Given the description of an element on the screen output the (x, y) to click on. 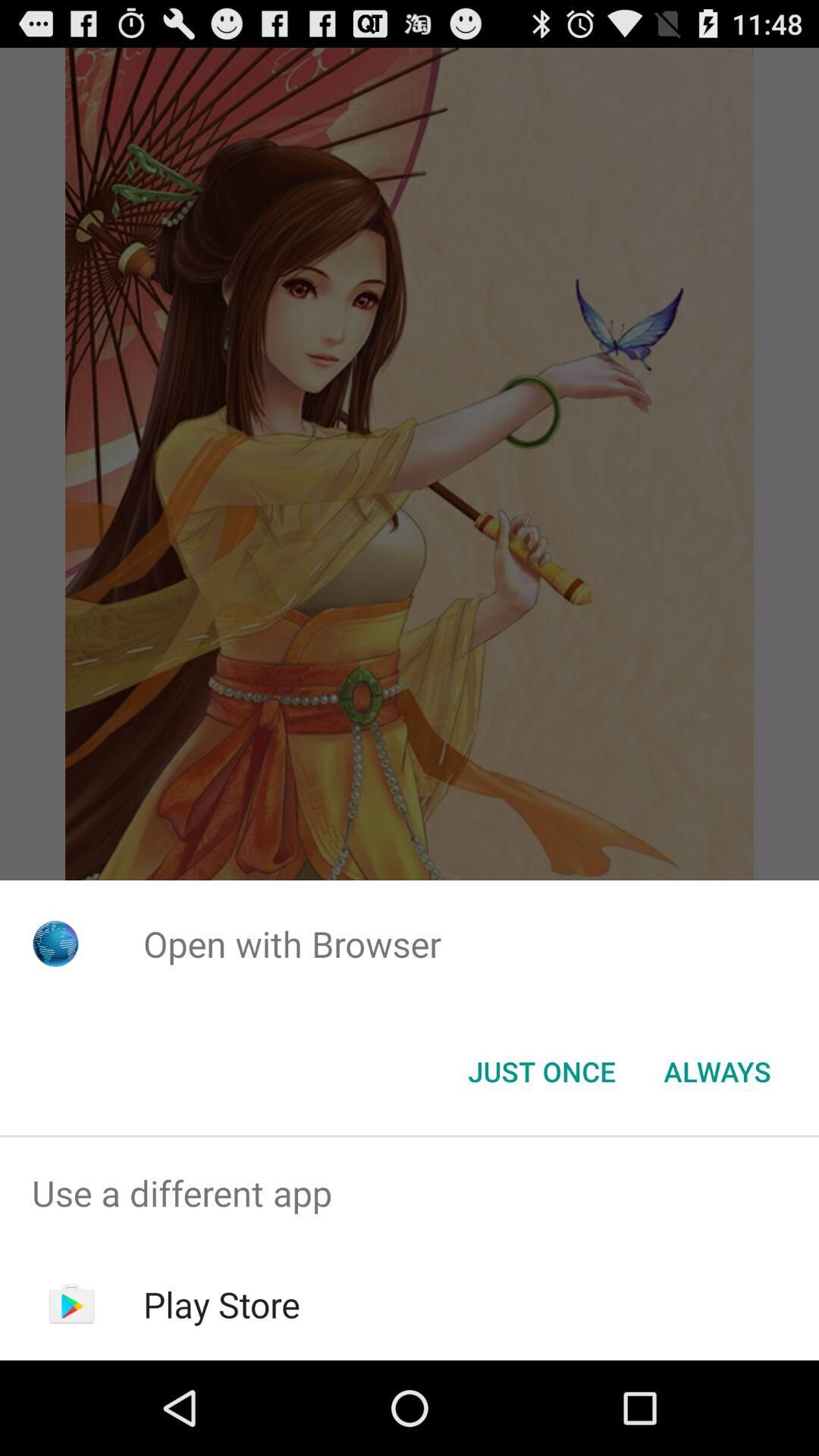
jump to use a different (409, 1192)
